Given the description of an element on the screen output the (x, y) to click on. 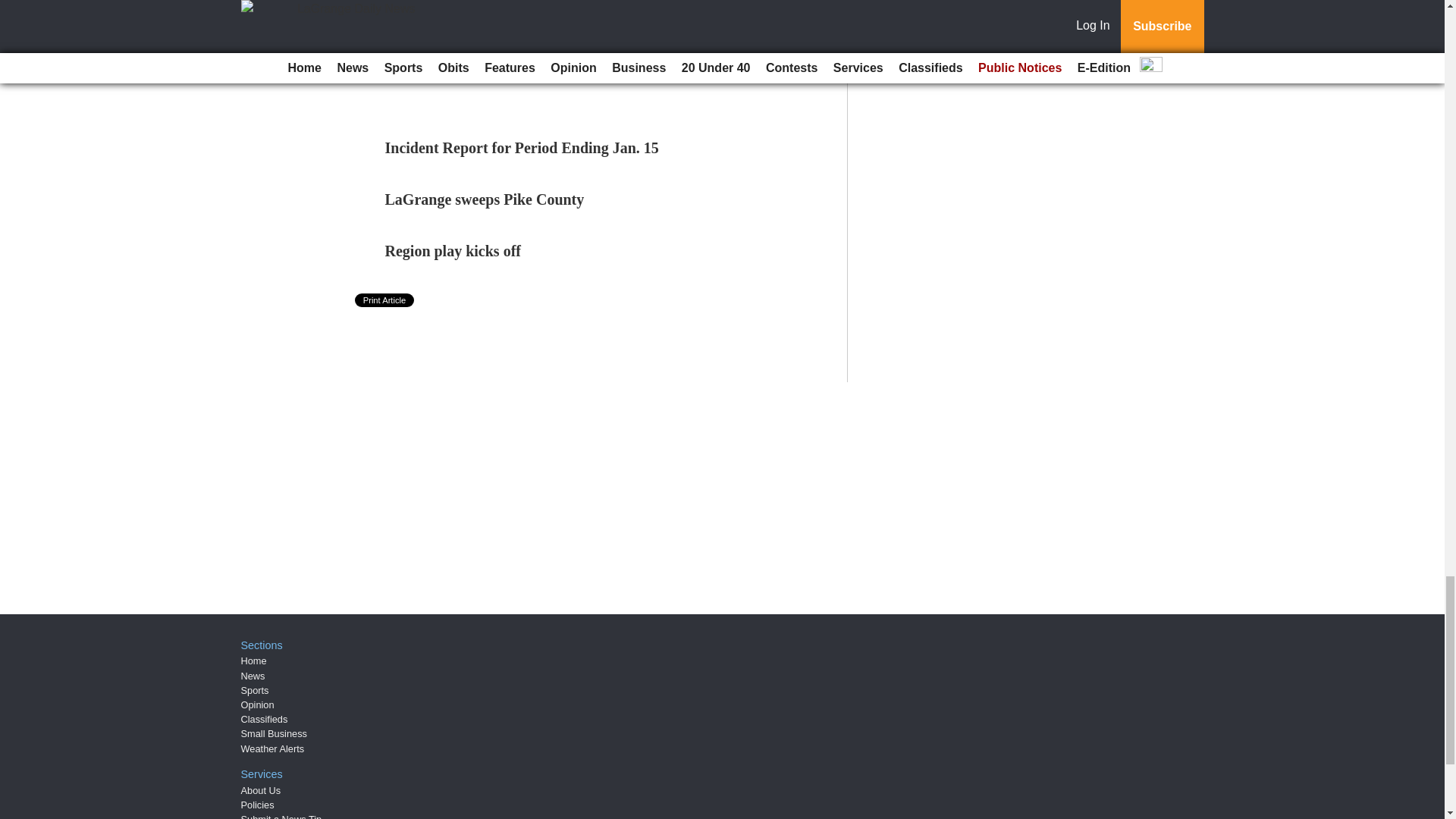
Incident Report for Period Ending Jan. 15 (522, 147)
Region play kicks off (453, 250)
Incident Report for Period Ending Jan. 15 (522, 147)
Tournament time for unbeaten Lady Tigers (485, 21)
LaGrange sweeps Pike County (485, 199)
Region play kicks off (453, 250)
LaGrange sweeps Pike County (485, 199)
Print Article (384, 300)
Tournament time for unbeaten Lady Tigers (485, 21)
News (252, 675)
